Given the description of an element on the screen output the (x, y) to click on. 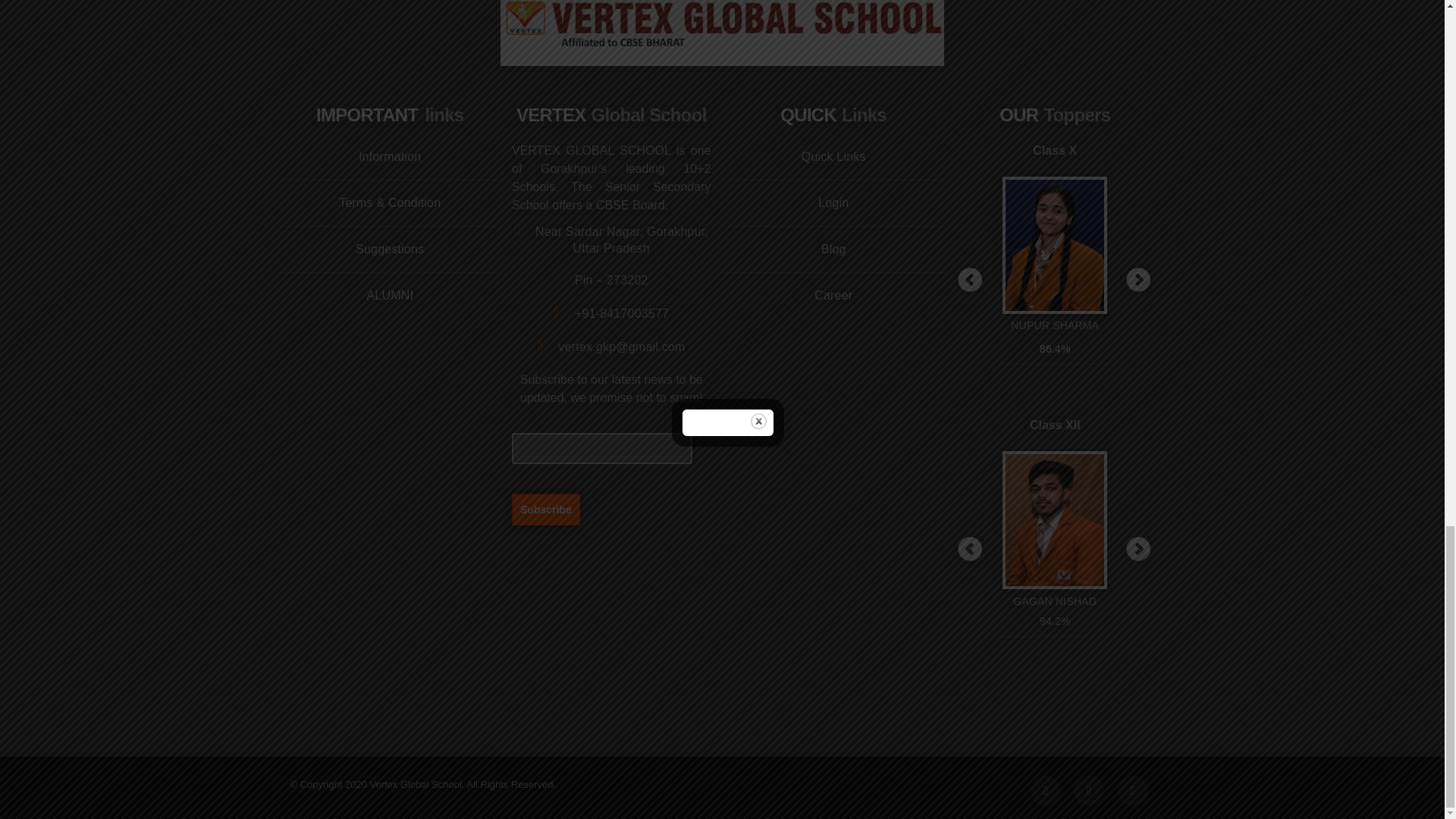
Subscribe (545, 508)
